Given the description of an element on the screen output the (x, y) to click on. 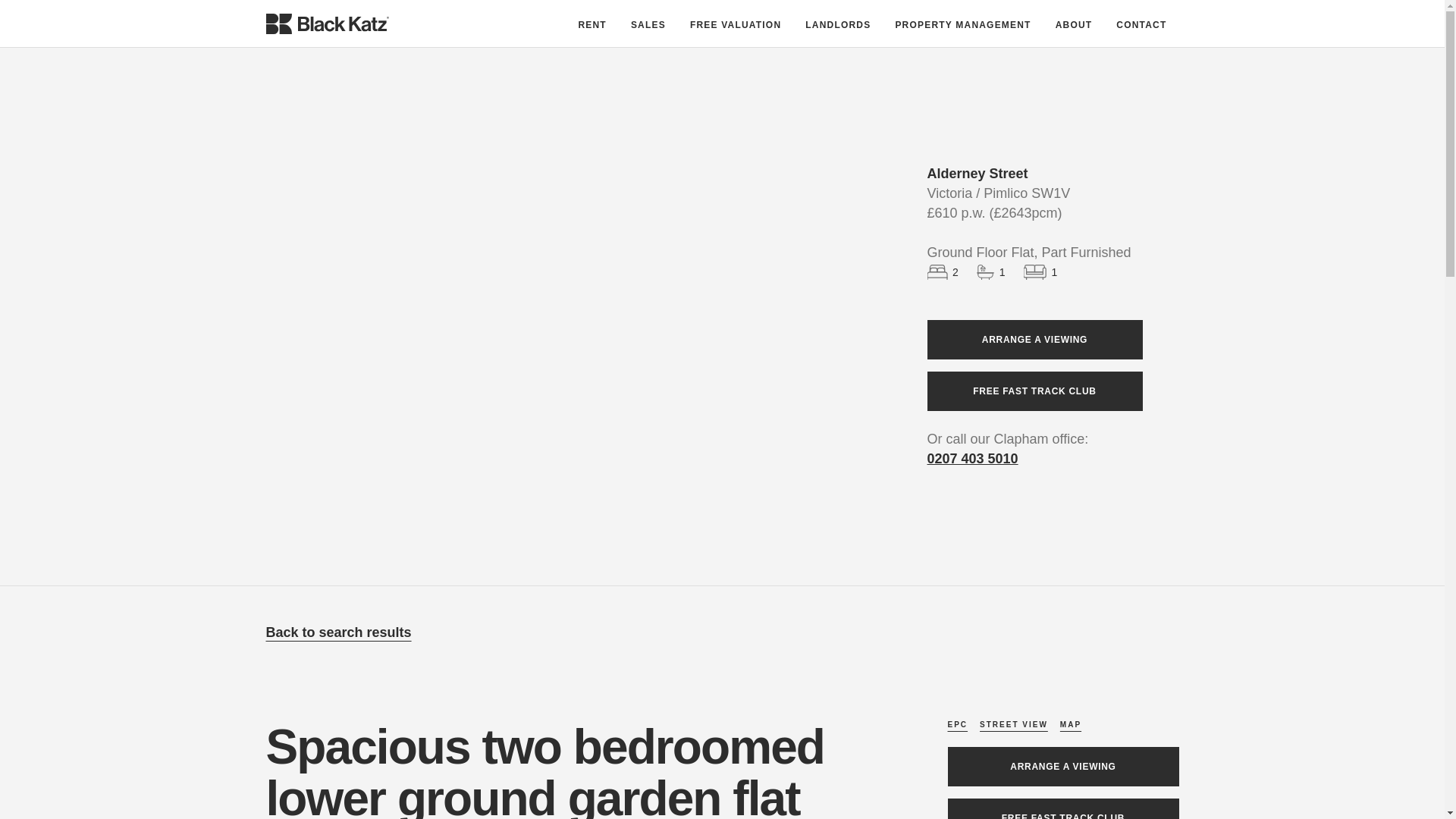
STREET VIEW (1013, 724)
PROPERTY MANAGEMENT (962, 23)
London's Property Specialist since 1992 (1074, 23)
Contact Us (1140, 23)
Property Management (962, 23)
LANDLORDS (837, 23)
Landlords (837, 23)
ABOUT (1074, 23)
